Given the description of an element on the screen output the (x, y) to click on. 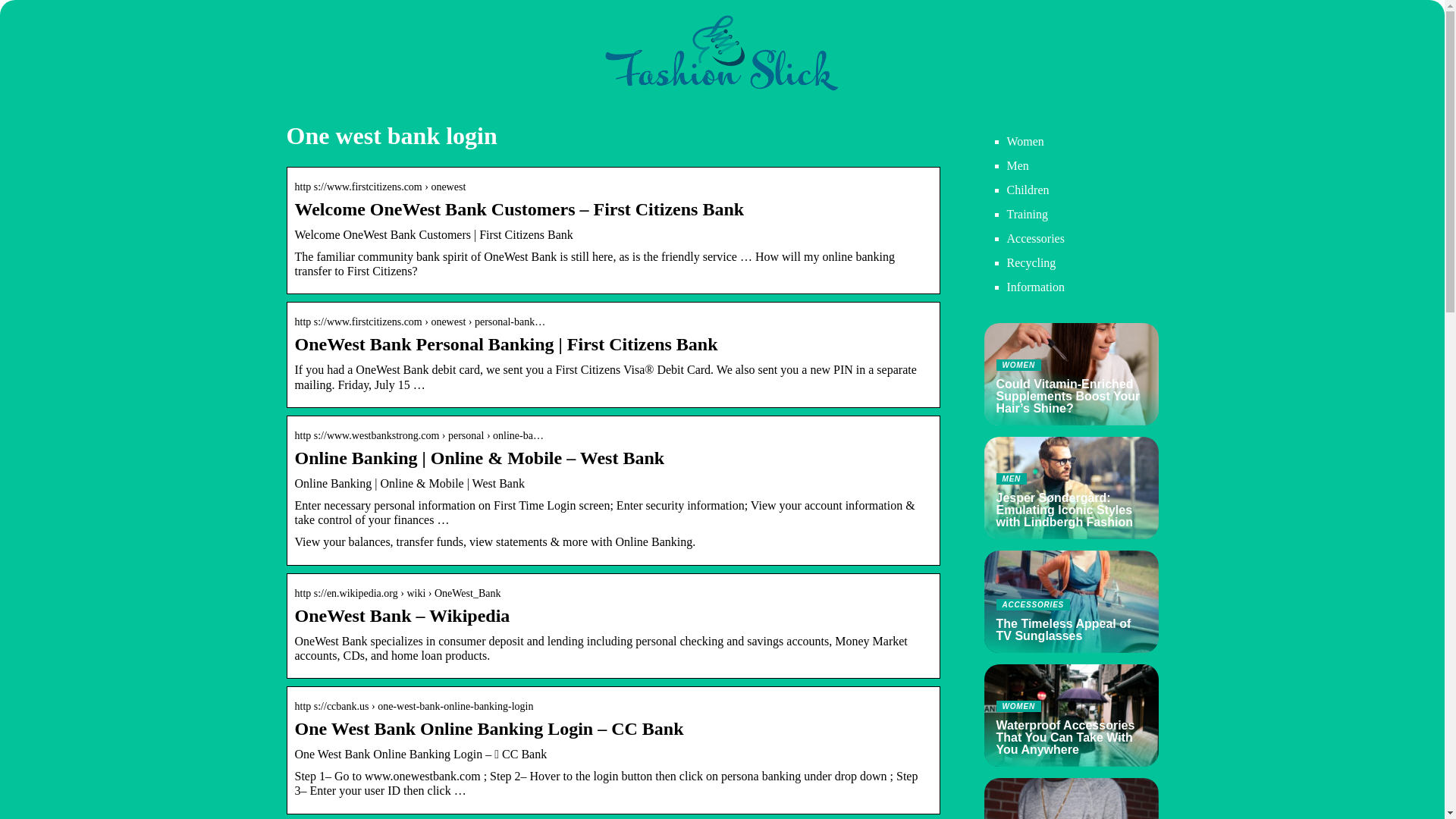
Information (1035, 286)
Training (1027, 214)
Men (1071, 601)
Accessories (1018, 164)
Recycling (1071, 798)
Children (1035, 237)
Women (1032, 262)
